Given the description of an element on the screen output the (x, y) to click on. 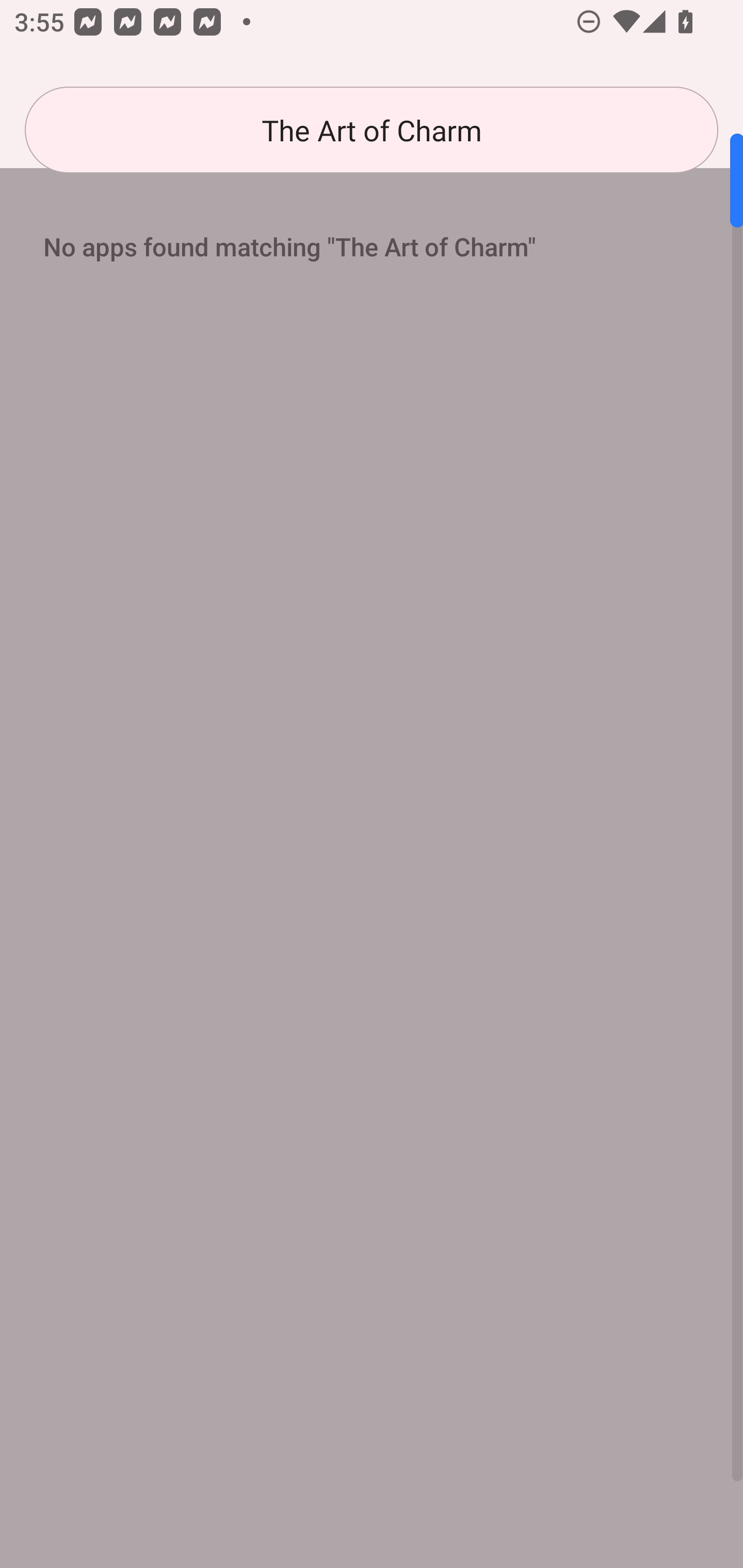
The Art of Charm (371, 130)
